Given the description of an element on the screen output the (x, y) to click on. 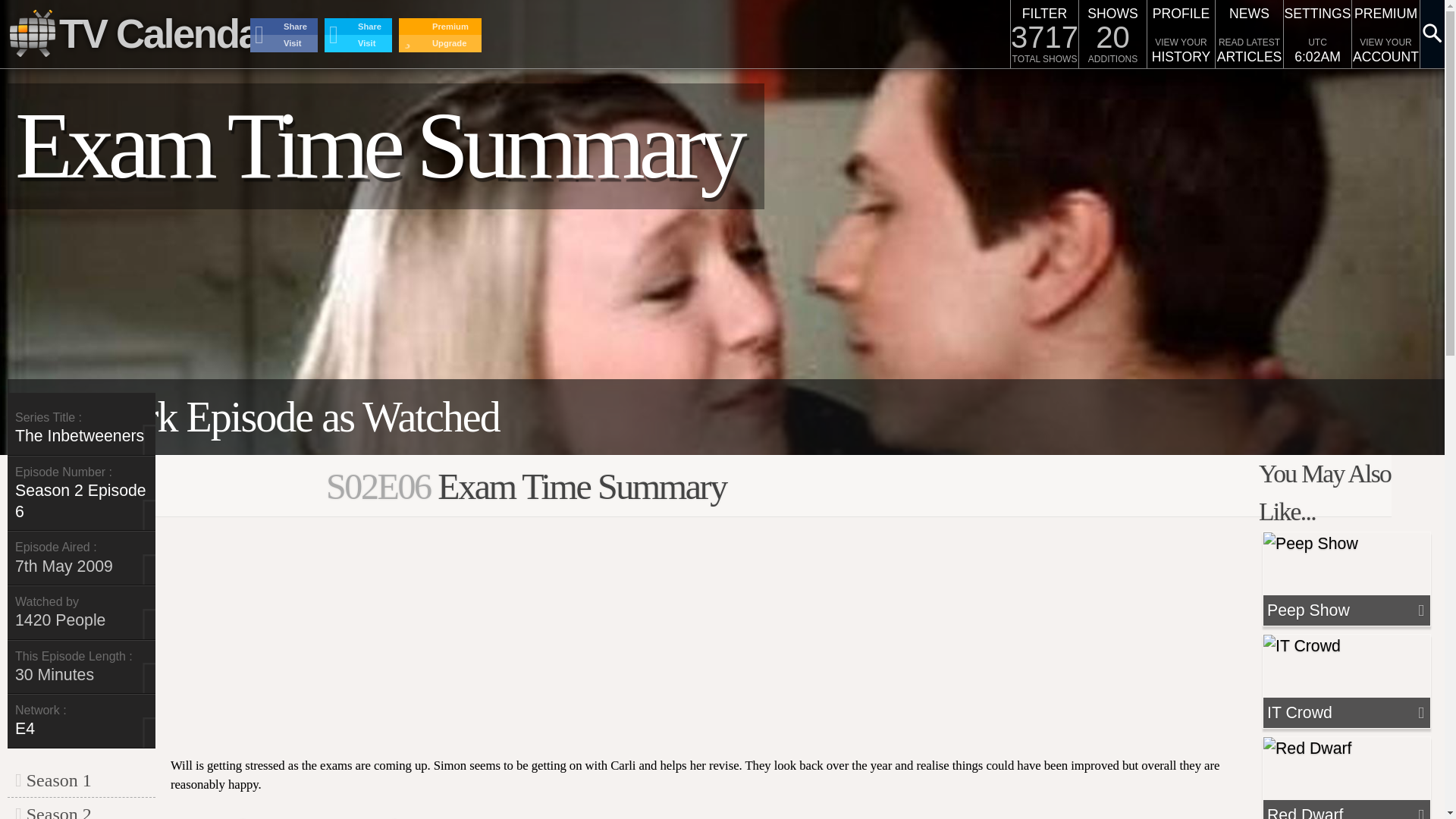
Share this page on Facebook (283, 27)
Red Dwarf (1332, 811)
TV Calendar (141, 34)
The Inbetweeners (79, 435)
IT Crowd (1332, 712)
Season 2 Episode 6 (80, 500)
Visit and Follow The TV Calendar on Twitter (357, 43)
Season 2 (52, 811)
Visit and LIKE The TV Calendar on Facebook (283, 43)
Season 1 (52, 780)
